Given the description of an element on the screen output the (x, y) to click on. 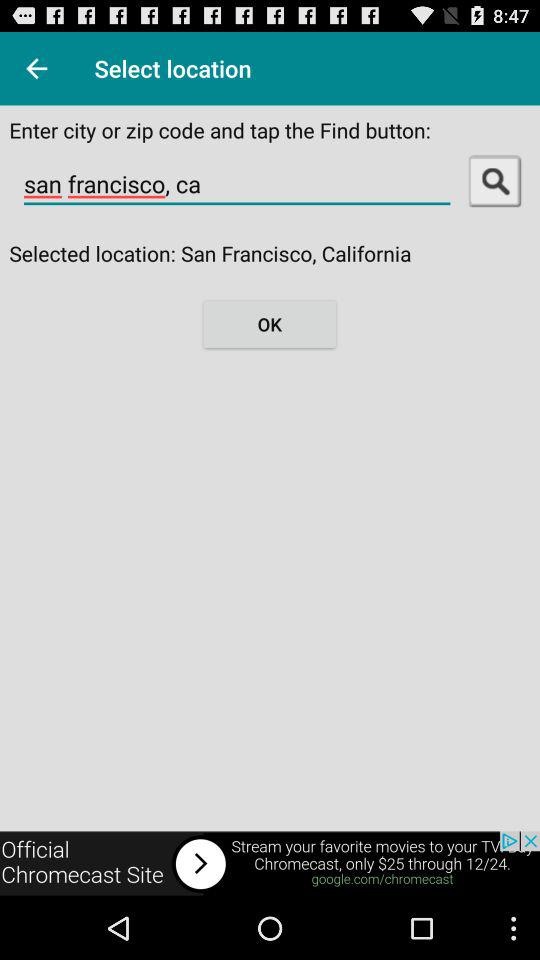
go to back (270, 864)
